Given the description of an element on the screen output the (x, y) to click on. 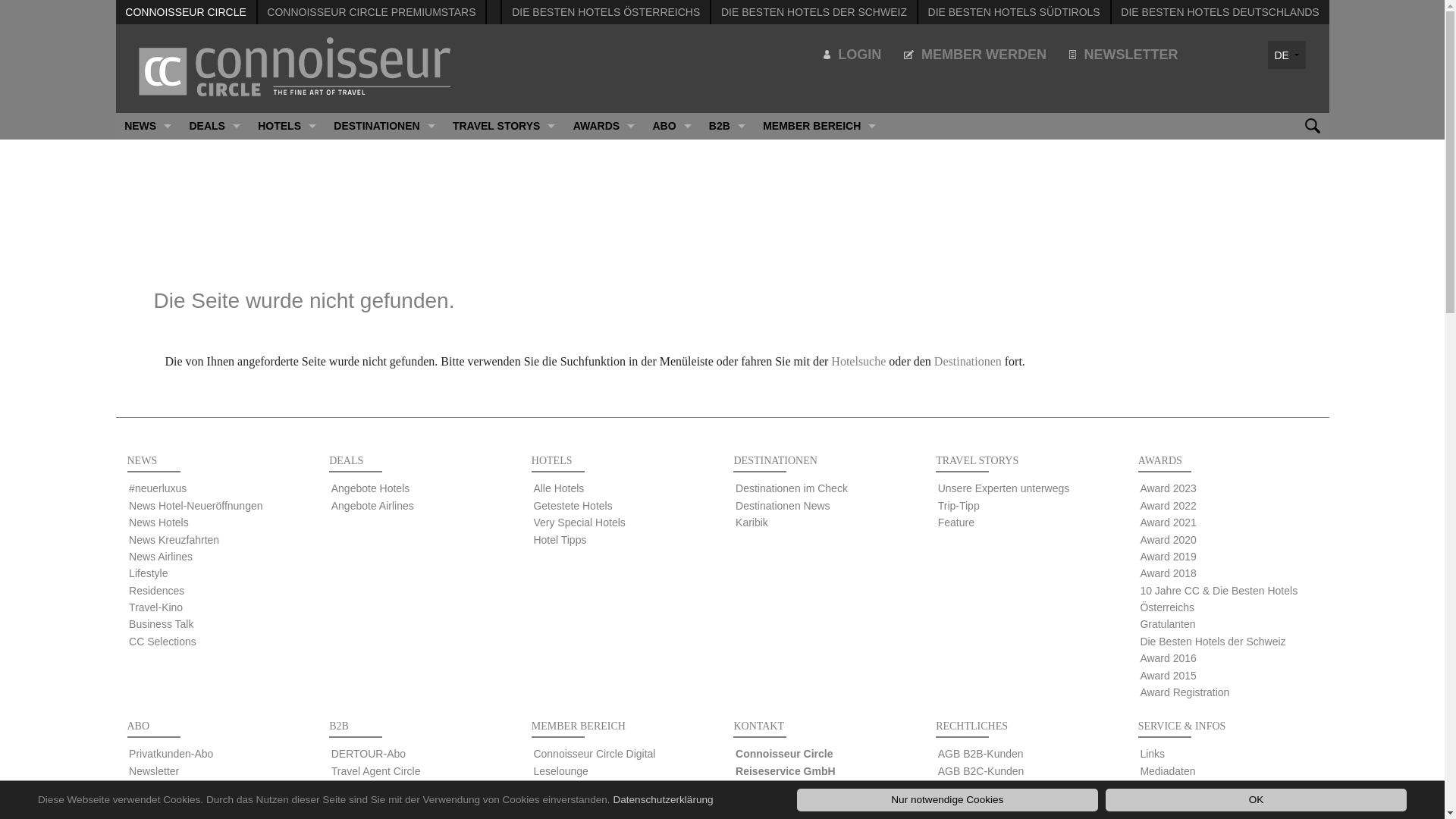
Award 2023 Element type: text (1167, 488)
Award 2019 Element type: text (1167, 556)
Magazin-Nachbestellung Element type: text (389, 804)
Award Registration Element type: text (1184, 692)
Destinationen News Element type: text (782, 505)
AWARD 2021 Element type: text (603, 205)
Business Talk Element type: text (160, 624)
ABO Element type: text (671, 125)
B2B Element type: text (726, 125)
AWARDS Element type: text (603, 125)
Privatkunden-Abo Element type: text (170, 753)
Award 2016 Element type: text (1167, 658)
Angebote Hotels Element type: text (370, 488)
DIE BESTEN HOTELS DEUTSCHLANDS Element type: text (1219, 12)
DIE BESTEN HOTELS DER SCHWEIZ Element type: text (603, 364)
LOGIN Element type: text (852, 54)
ccVIP Element type: text (345, 787)
AGB B2B-Kunden Element type: text (980, 753)
NEWS HOTELS Element type: text (147, 205)
AWARD 2019 Element type: text (603, 258)
Alle Hotels Element type: text (558, 488)
Connoisseur Circle Digital Element type: text (189, 787)
Gratulanten Element type: text (1167, 624)
#neuerluxus Element type: text (157, 488)
DESTINATIONEN IM CHECK Element type: text (384, 152)
Mediadaten Element type: text (1167, 771)
Nur notwendige Cookies Element type: text (947, 799)
AWARD 2016 Element type: text (603, 391)
Award 2015 Element type: text (1167, 675)
DIE BESTEN HOTELS DER SCHWEIZ Element type: text (813, 12)
CONNOISSEUR CIRCLE PREMIUMSTARS Element type: text (370, 12)
Award 2021 Element type: text (1167, 522)
AWARD 2020 Element type: text (603, 232)
TRAVEL AGENT CIRCLE Element type: text (726, 179)
MAGAZIN-NACHBESTELLUNG Element type: text (726, 232)
GETESTETE HOTELS Element type: text (287, 179)
Very Special Hotels Element type: text (578, 522)
Karibik Element type: text (751, 522)
Angebote Airlines Element type: text (372, 505)
Feature Element type: text (956, 522)
CONNOISSEUR CIRCLE Element type: text (185, 12)
NEWS AIRLINES Element type: text (147, 258)
HOTEL TIPPS Element type: text (287, 232)
Unsere Experten unterwegs Element type: text (1004, 488)
Connoisseur Circle Digital Element type: text (594, 753)
PRIVATKUNDEN-ABO Element type: text (671, 152)
BUSINESS TALK Element type: text (147, 364)
ALLE HOTELS Element type: text (287, 152)
LESELOUNGE Element type: text (819, 179)
CC SELECTIONS Element type: text (147, 391)
NEWS KREUZFAHRTEN Element type: text (147, 232)
Hotel Tipps Element type: text (559, 539)
Newsletter Element type: text (153, 771)
GRATULANTEN Element type: text (603, 338)
News Kreuzfahrten Element type: text (173, 539)
Award 2020 Element type: text (1167, 539)
TRAVEL STORYS Element type: text (503, 125)
Travel Agent Circle Element type: text (375, 771)
AGB B2C-Kunden Element type: text (981, 771)
Destinationen Element type: text (967, 360)
GTC B2B-Customers Element type: text (988, 787)
TRAVEL-KINO Element type: text (147, 338)
Award 2018 Element type: text (1167, 573)
VERY SPECIAL HOTELS Element type: text (287, 205)
HOTELS Element type: text (287, 125)
NEWSLETTER Element type: text (671, 179)
#NEUERLUXUS Element type: text (147, 152)
DERTOUR-Abo Element type: text (368, 753)
AWARD 2015 Element type: text (603, 417)
Getestete Hotels Element type: text (572, 505)
CCVIP Element type: text (726, 205)
News Hotels Element type: text (158, 522)
CONNOISSEUR CIRCLE DIGITAL Element type: text (819, 152)
KARIBIK Element type: text (384, 205)
Destinationen im Check Element type: text (791, 488)
Impressum Element type: text (964, 804)
Trip-Tipp Element type: text (958, 505)
MEMBER WERDEN Element type: text (974, 54)
RESIDENCES Element type: text (147, 311)
NEWS Element type: text (147, 125)
MEMBER BEREICH Element type: text (819, 125)
AWARD REGISTRATION Element type: text (603, 444)
News Airlines Element type: text (160, 556)
LIFESTYLE Element type: text (147, 285)
CC Selections Element type: text (162, 641)
DERTOUR-ABO Element type: text (726, 152)
CCVIP Element type: text (671, 232)
AWARD 2018 Element type: text (603, 285)
Presse Element type: text (1156, 787)
DESTINATIONEN NEWS Element type: text (384, 179)
Residences Element type: text (156, 590)
Links Element type: text (1151, 753)
FEATURE Element type: text (503, 205)
Hotelsuche Element type: text (858, 360)
AWARD 2023 Element type: text (603, 152)
CCVIP Element type: text (144, 804)
NEWSLETTER Element type: text (1123, 54)
UNSERE EXPERTEN UNTERWEGS Element type: text (503, 152)
B2B ABOS Element type: text (726, 258)
AWARD 2022 Element type: text (603, 179)
ANGEBOTE HOTELS Element type: text (214, 152)
CONNOISSEUR CIRCLE DIGITAL Element type: text (671, 205)
Travel-Kino Element type: text (155, 607)
DESTINATIONEN Element type: text (384, 125)
OK Element type: text (1255, 799)
Leselounge Element type: text (560, 771)
DEALS Element type: text (214, 125)
ANGEBOTE AIRLINES Element type: text (214, 179)
TRIP-TIPP Element type: text (503, 179)
Award 2022 Element type: text (1167, 505)
Die Besten Hotels der Schweiz Element type: text (1212, 641)
Lifestyle Element type: text (147, 573)
